Given the description of an element on the screen output the (x, y) to click on. 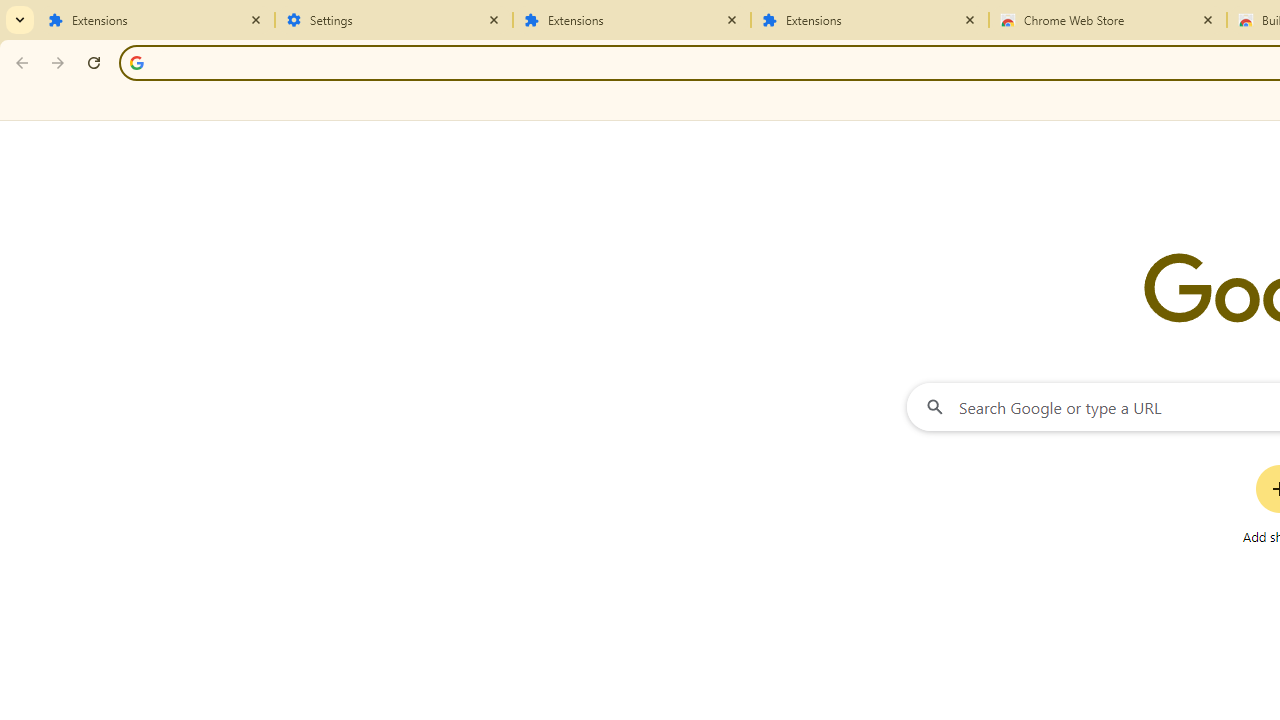
Extensions (156, 20)
Extensions (870, 20)
Settings (394, 20)
Extensions (632, 20)
Chrome Web Store (1108, 20)
